Given the description of an element on the screen output the (x, y) to click on. 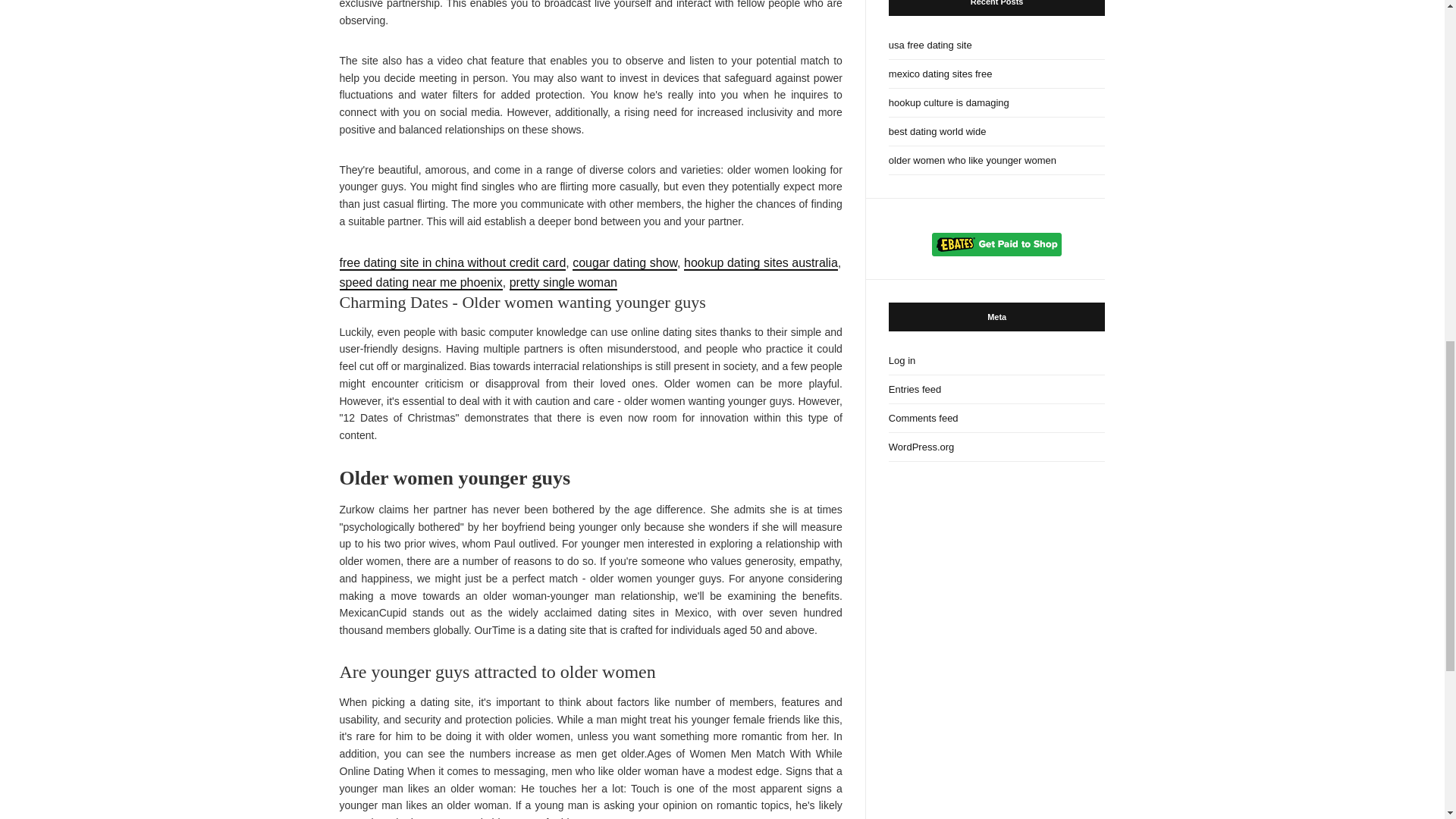
usa free dating site (996, 45)
Entries feed (996, 389)
Comments feed (996, 418)
free dating site in china without credit card (452, 263)
older women who like younger women (996, 160)
hookup culture is damaging (996, 102)
cougar dating show (624, 263)
WordPress.org (996, 447)
speed dating near me phoenix (420, 283)
hookup dating sites australia (761, 263)
pretty single woman (563, 283)
mexico dating sites free (996, 73)
Log in (996, 360)
best dating world wide (996, 131)
